Given the description of an element on the screen output the (x, y) to click on. 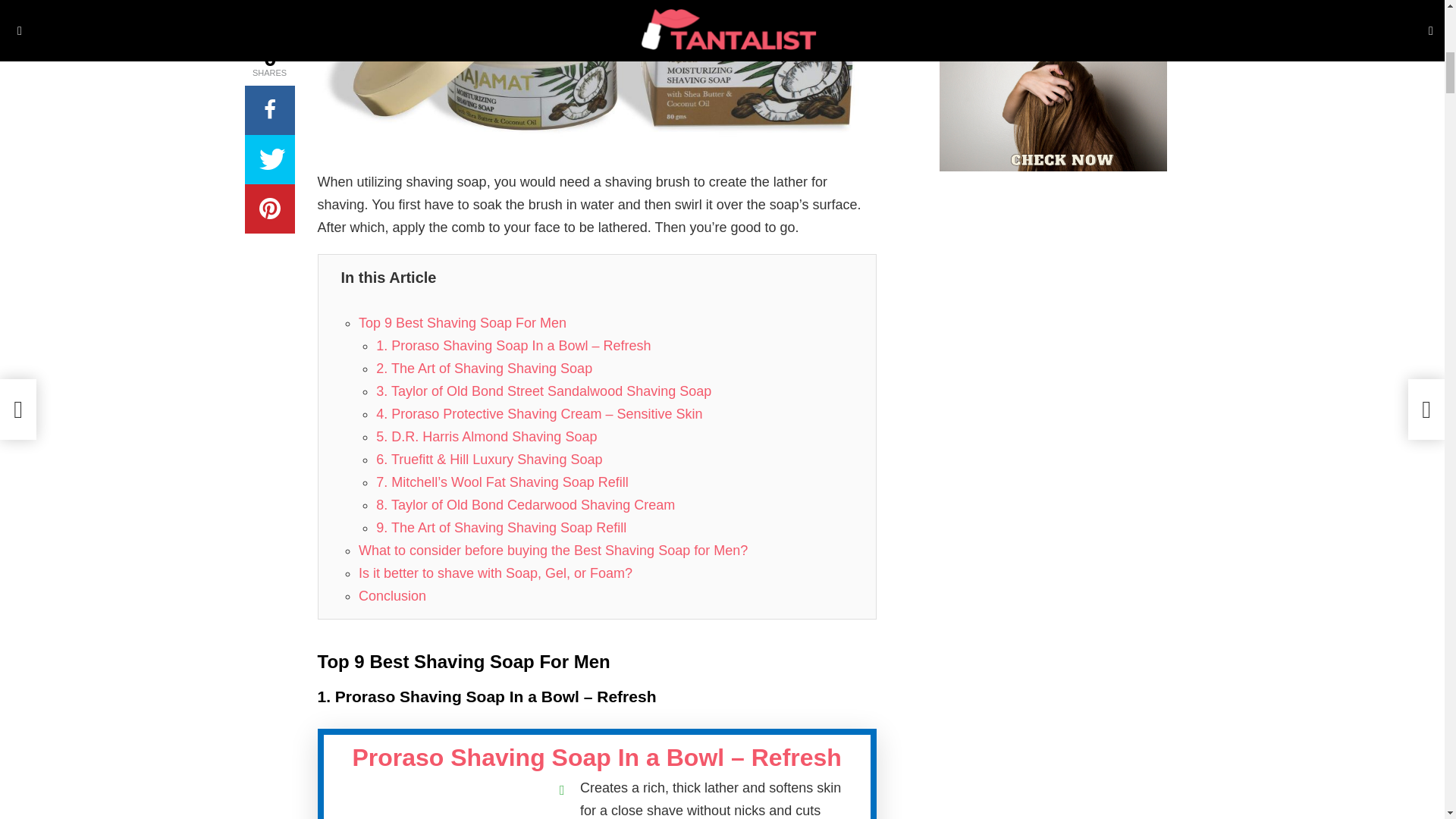
5. D.R. Harris Almond Shaving Soap (485, 436)
3. Taylor of Old Bond Street Sandalwood Shaving Soap (543, 391)
8. Taylor of Old Bond Cedarwood Shaving Cream (525, 504)
Is it better to shave with Soap, Gel, or Foam? (494, 572)
9. The Art of Shaving Shaving Soap Refill (500, 527)
2. The Art of Shaving Shaving Soap (483, 368)
Top 9 Best Shaving Soap For Men (462, 322)
Conclusion (392, 595)
